Given the description of an element on the screen output the (x, y) to click on. 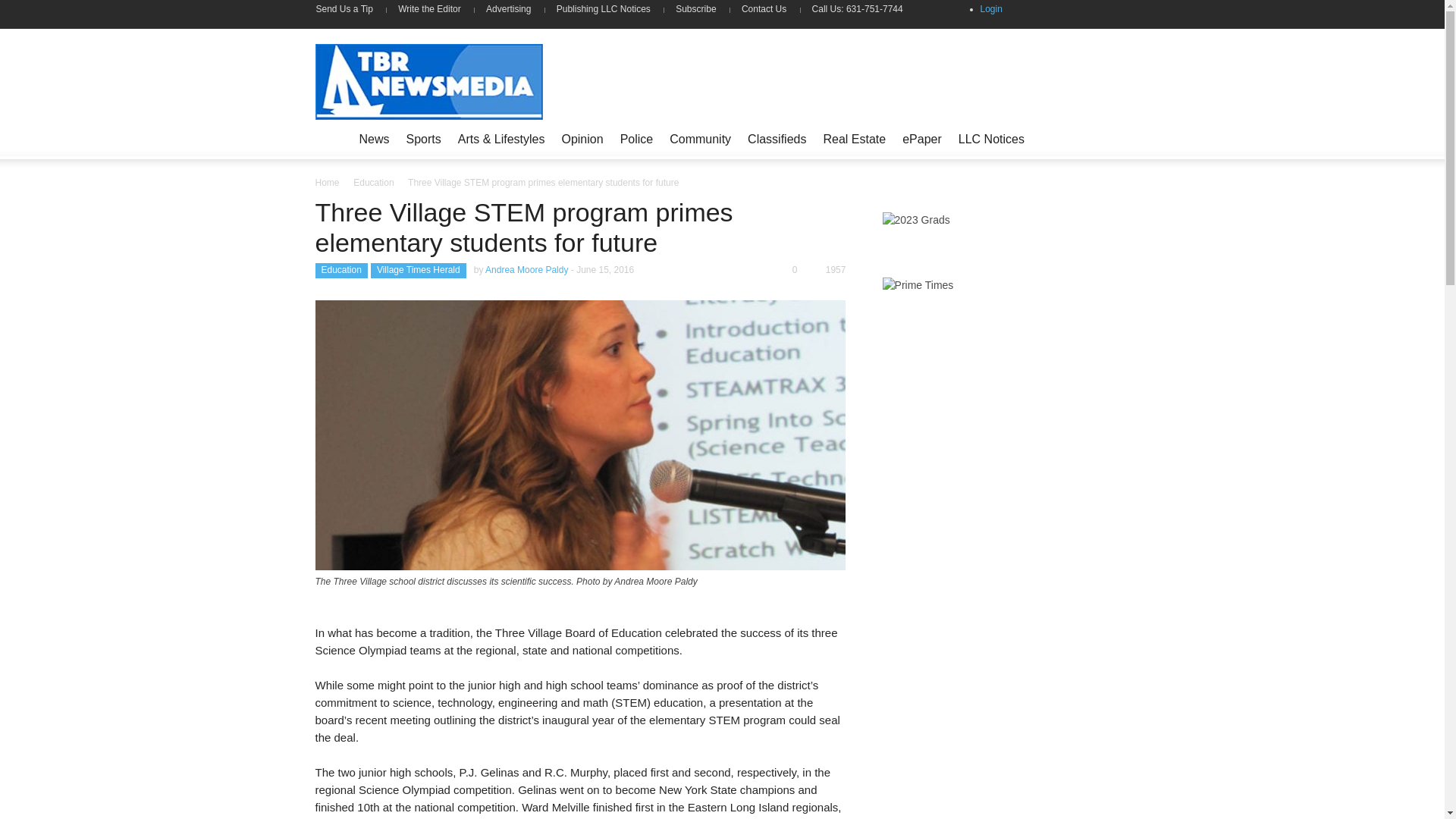
Send Us a Tip (349, 9)
Send Us a Tip (349, 9)
Write the Editor (429, 9)
Advertising (507, 9)
Contact Us (763, 9)
Write the Editor (429, 9)
View all posts in Education (373, 182)
Advertising (507, 9)
